Given the description of an element on the screen output the (x, y) to click on. 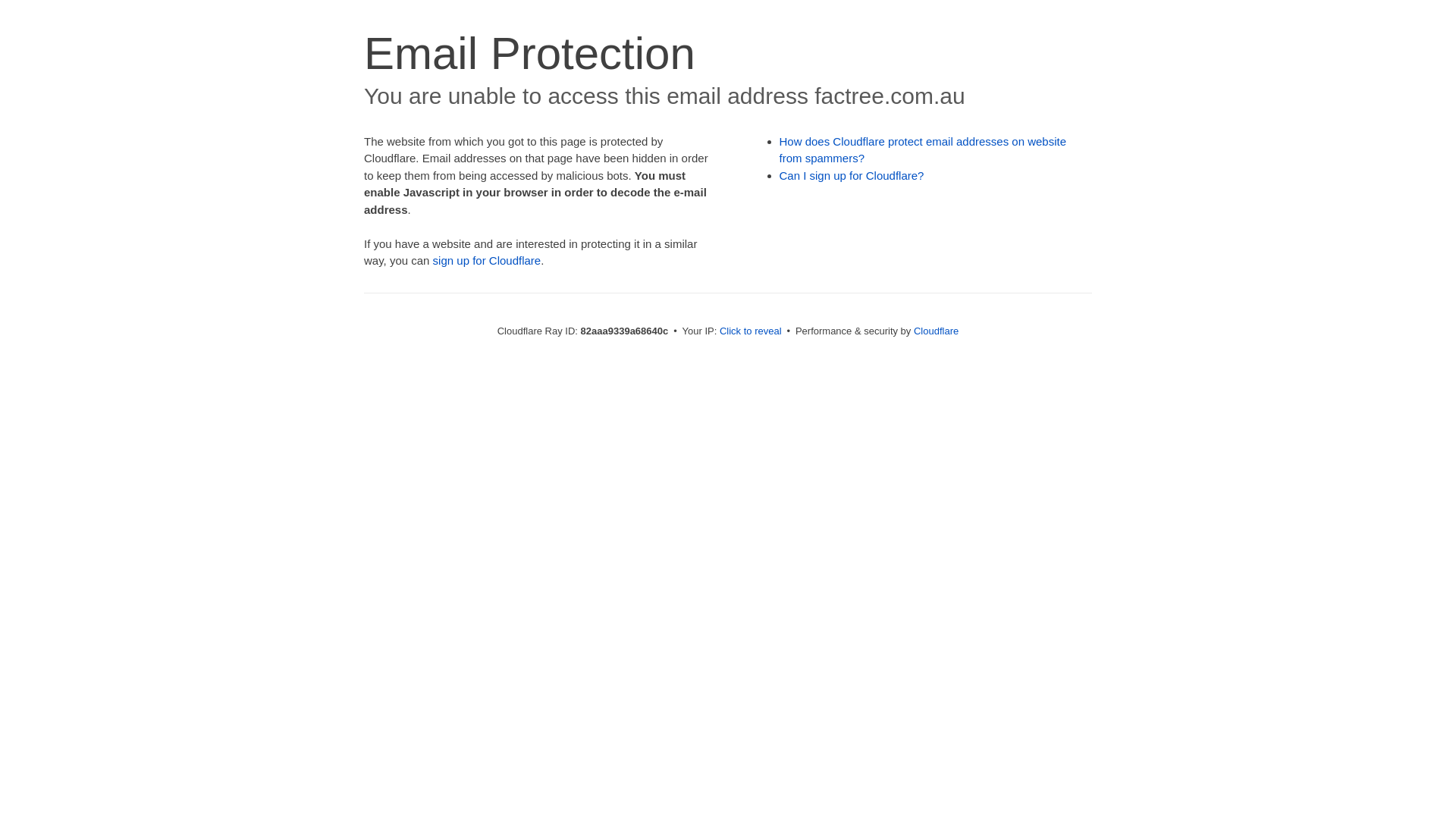
sign up for Cloudflare Element type: text (487, 260)
Can I sign up for Cloudflare? Element type: text (851, 175)
Click to reveal Element type: text (750, 330)
Cloudflare Element type: text (935, 330)
